Given the description of an element on the screen output the (x, y) to click on. 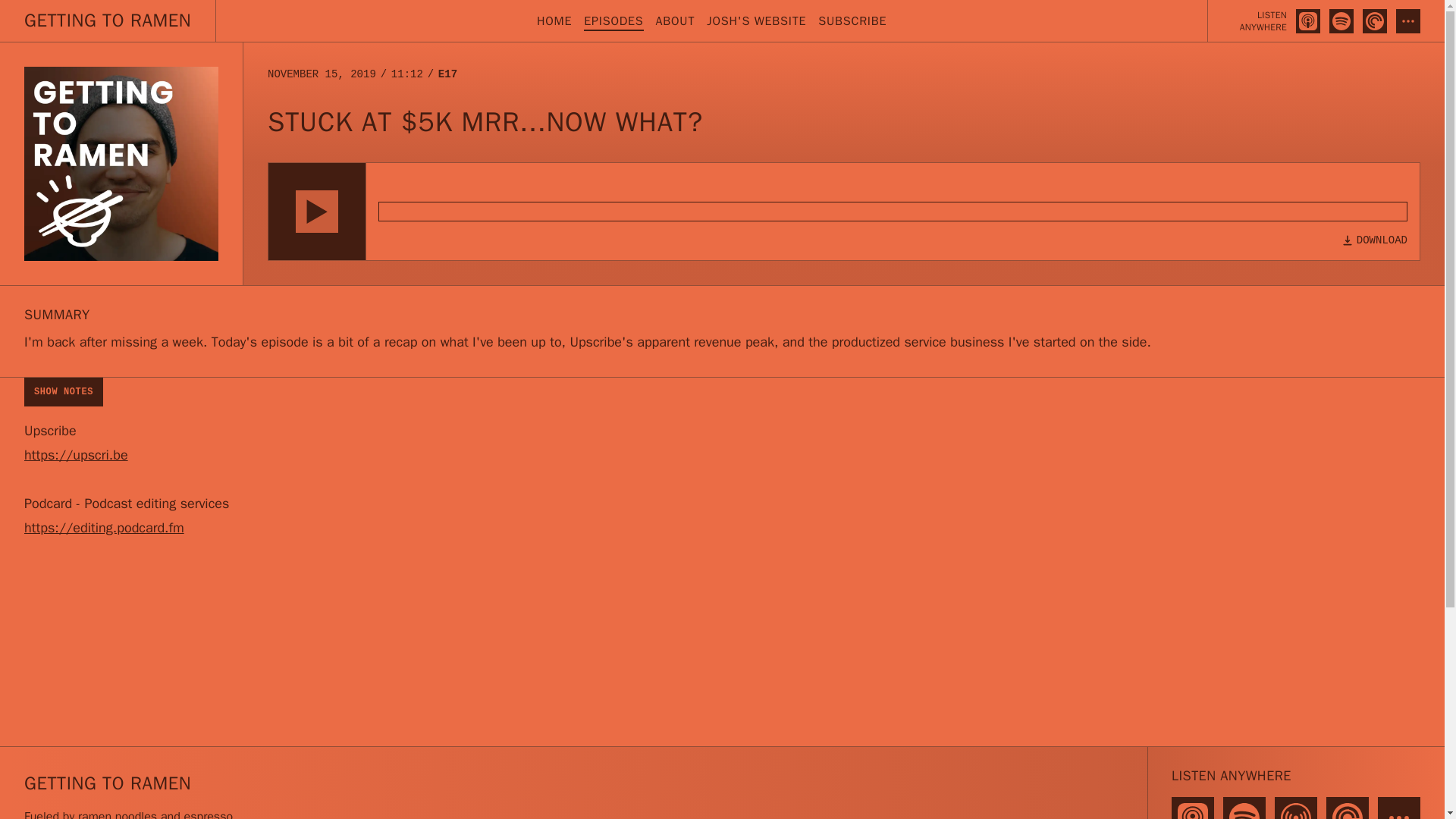
Listen to Getting To Ramen on Apple Podcasts (1307, 21)
Listen to Getting To Ramen on Pocket Casts (1374, 21)
More Options (1408, 21)
Subscribe (852, 21)
Episodes (613, 21)
DOWNLOAD (1373, 240)
ABOUT (675, 21)
GETTING TO RAMEN (107, 20)
EPISODES (613, 21)
About (675, 21)
